Given the description of an element on the screen output the (x, y) to click on. 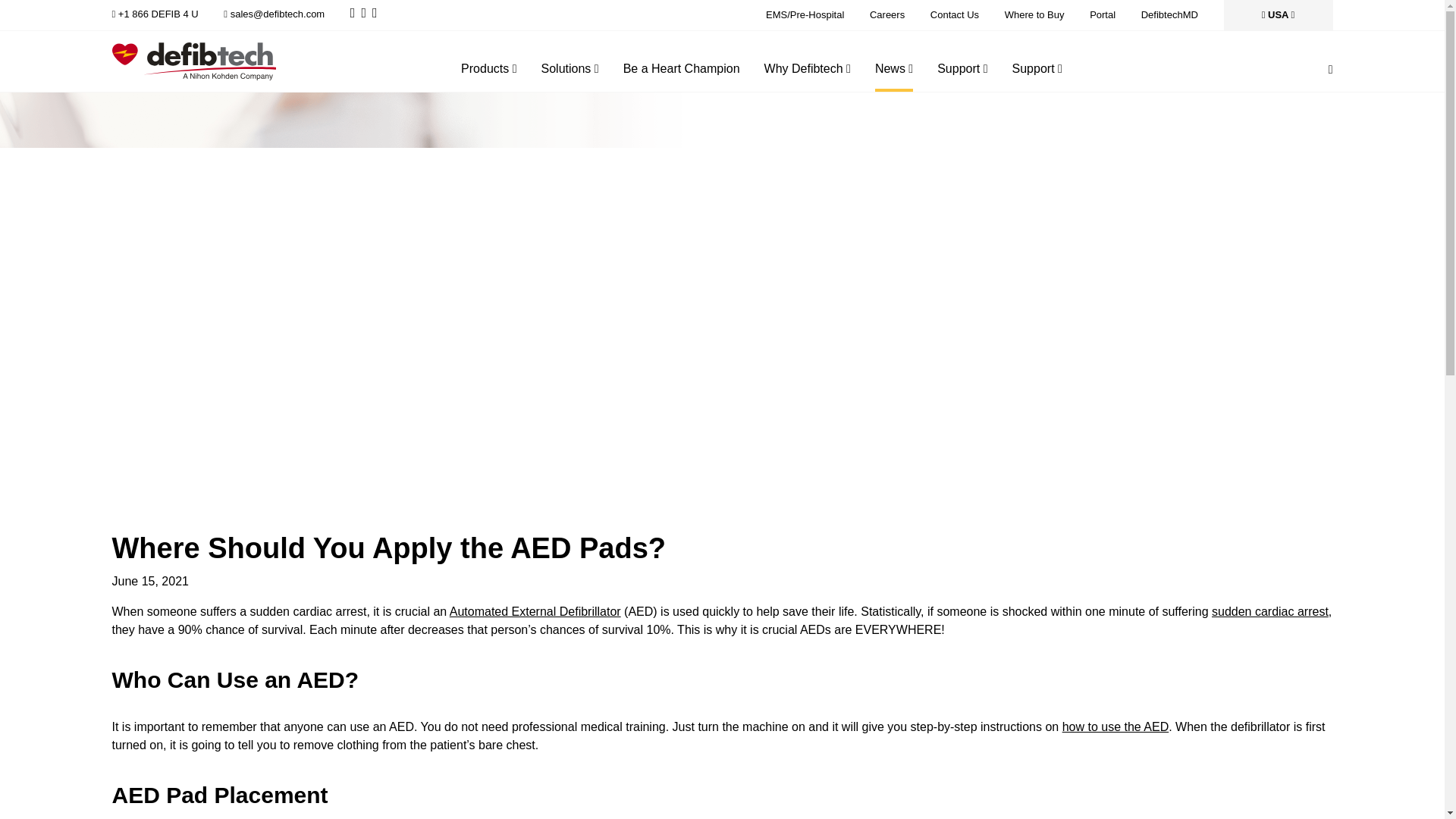
Contact Us (954, 13)
Careers (886, 13)
Products  (488, 72)
DefibtechMD (1169, 13)
Where to Buy (1034, 13)
Portal (1102, 13)
Solutions  (569, 72)
